Given the description of an element on the screen output the (x, y) to click on. 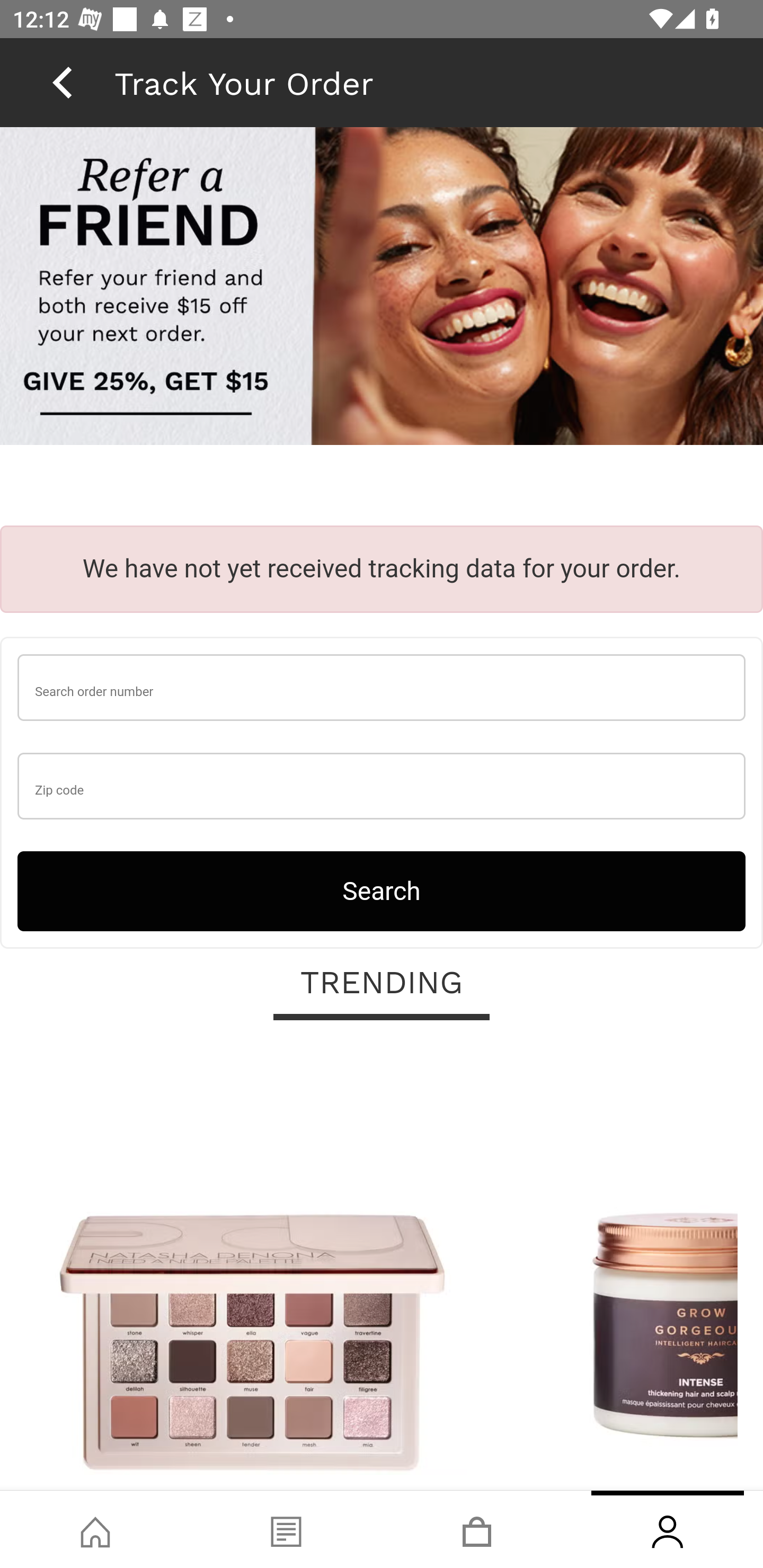
back (61, 82)
raf (381, 288)
Search (381, 890)
TRENDING (381, 983)
Natasha Denona I Need A Nude Palette (252, 1266)
Shop, tab, 1 of 4 (95, 1529)
Blog, tab, 2 of 4 (285, 1529)
Basket, tab, 3 of 4 (476, 1529)
Account, tab, 4 of 4 (667, 1529)
